Given the description of an element on the screen output the (x, y) to click on. 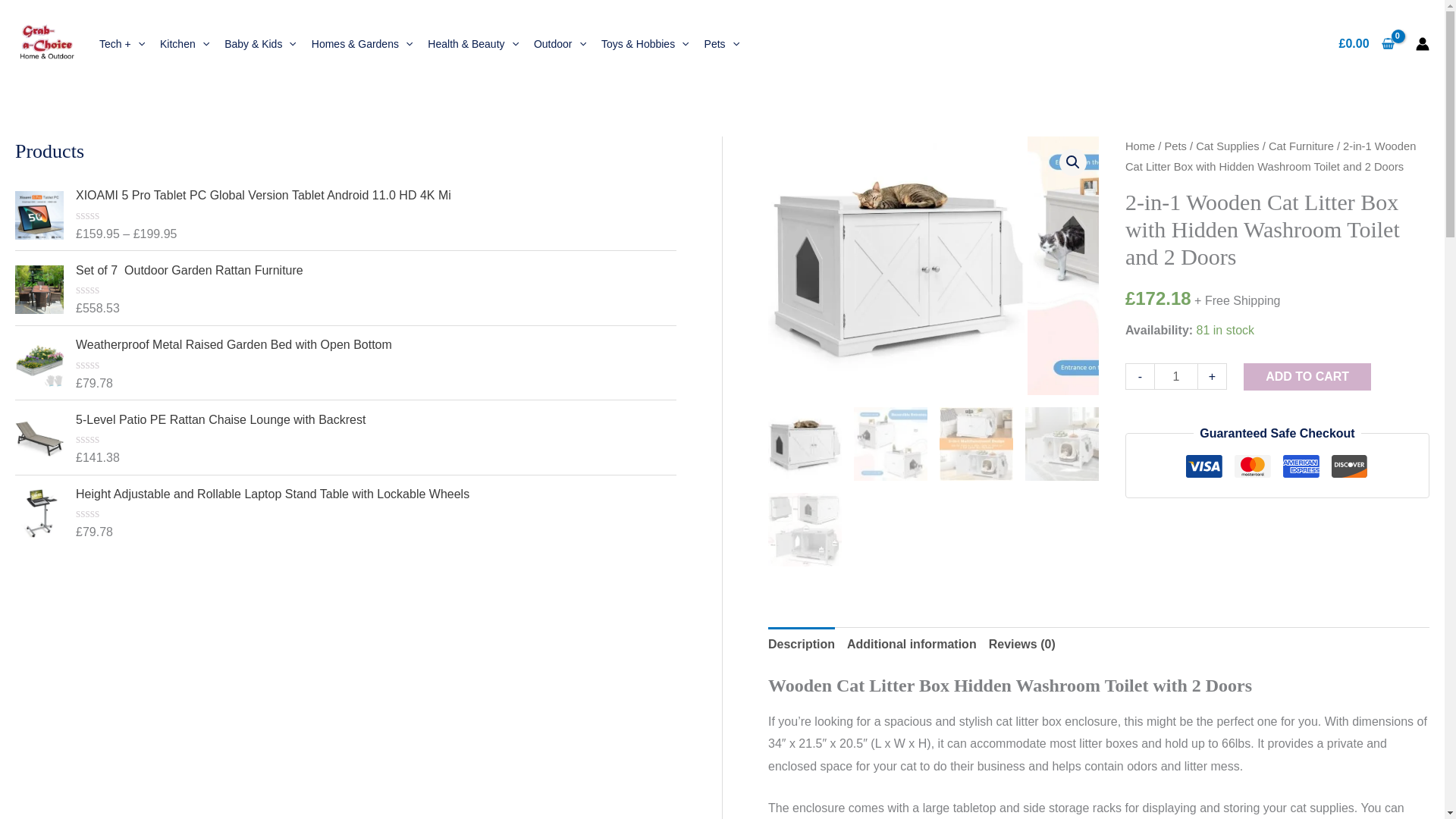
1 (1176, 376)
Kitchen (184, 44)
